Given the description of an element on the screen output the (x, y) to click on. 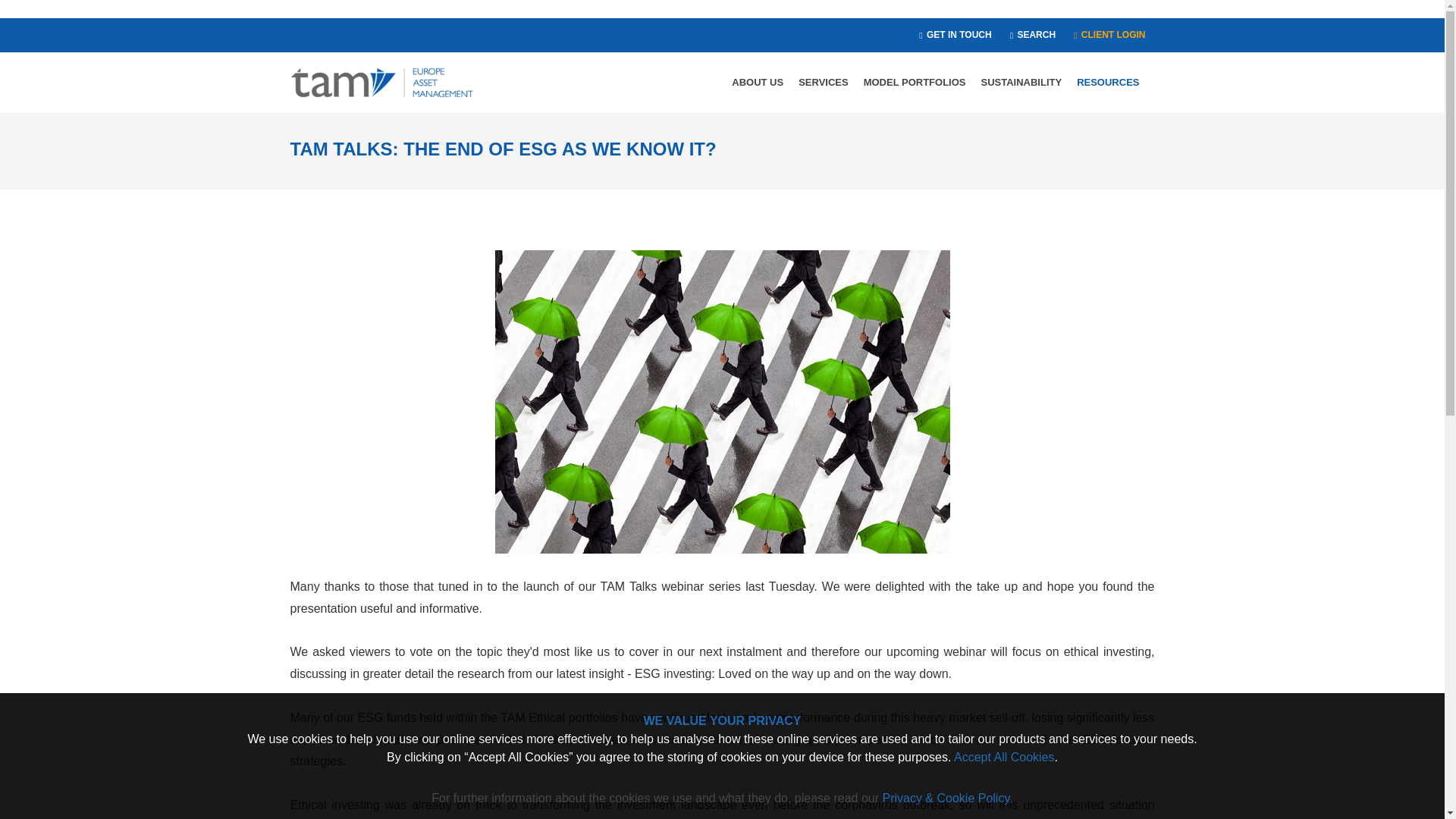
SUSTAINABILITY (1020, 82)
Services (823, 82)
Resources (1107, 82)
SEARCH (1032, 34)
ABOUT US (756, 82)
GET IN TOUCH (955, 34)
CLIENT LOGIN (1109, 34)
SERVICES (823, 82)
RESOURCES (1107, 82)
Model Portfolios (915, 82)
About Us (756, 82)
Accept All Cookies (1003, 757)
MODEL PORTFOLIOS (915, 82)
Sustainability (1020, 82)
